Given the description of an element on the screen output the (x, y) to click on. 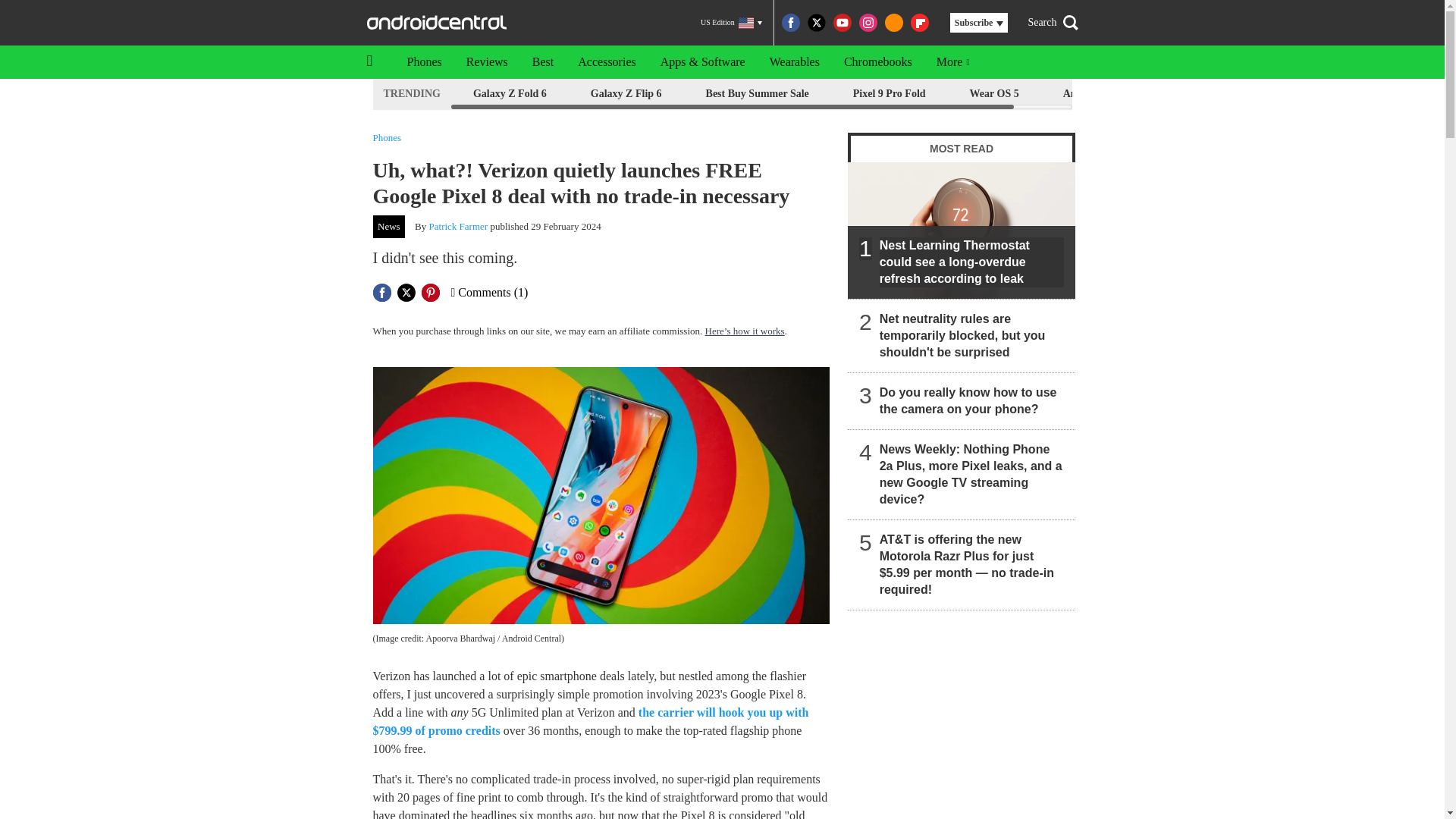
Phones (423, 61)
US Edition (731, 22)
Android 15 (1088, 93)
Wearables (794, 61)
News (389, 226)
Best (542, 61)
Reviews (486, 61)
Phones (386, 137)
Galaxy Z Fold 6 (509, 93)
Wear OS 5 (994, 93)
